Given the description of an element on the screen output the (x, y) to click on. 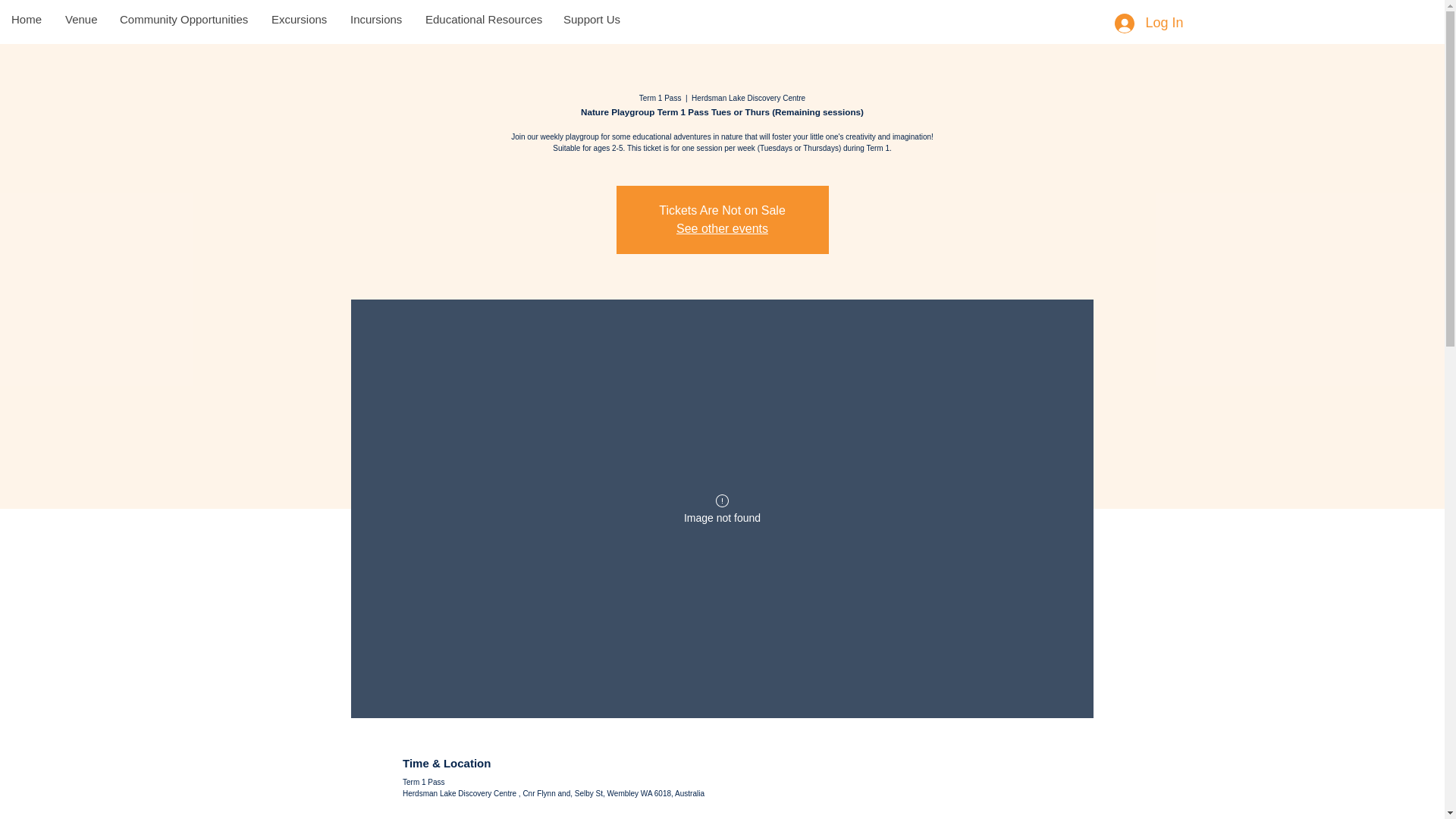
Incursions (375, 19)
Community Opportunities (183, 19)
Home (26, 19)
Venue (79, 19)
Excursions (298, 19)
